Given the description of an element on the screen output the (x, y) to click on. 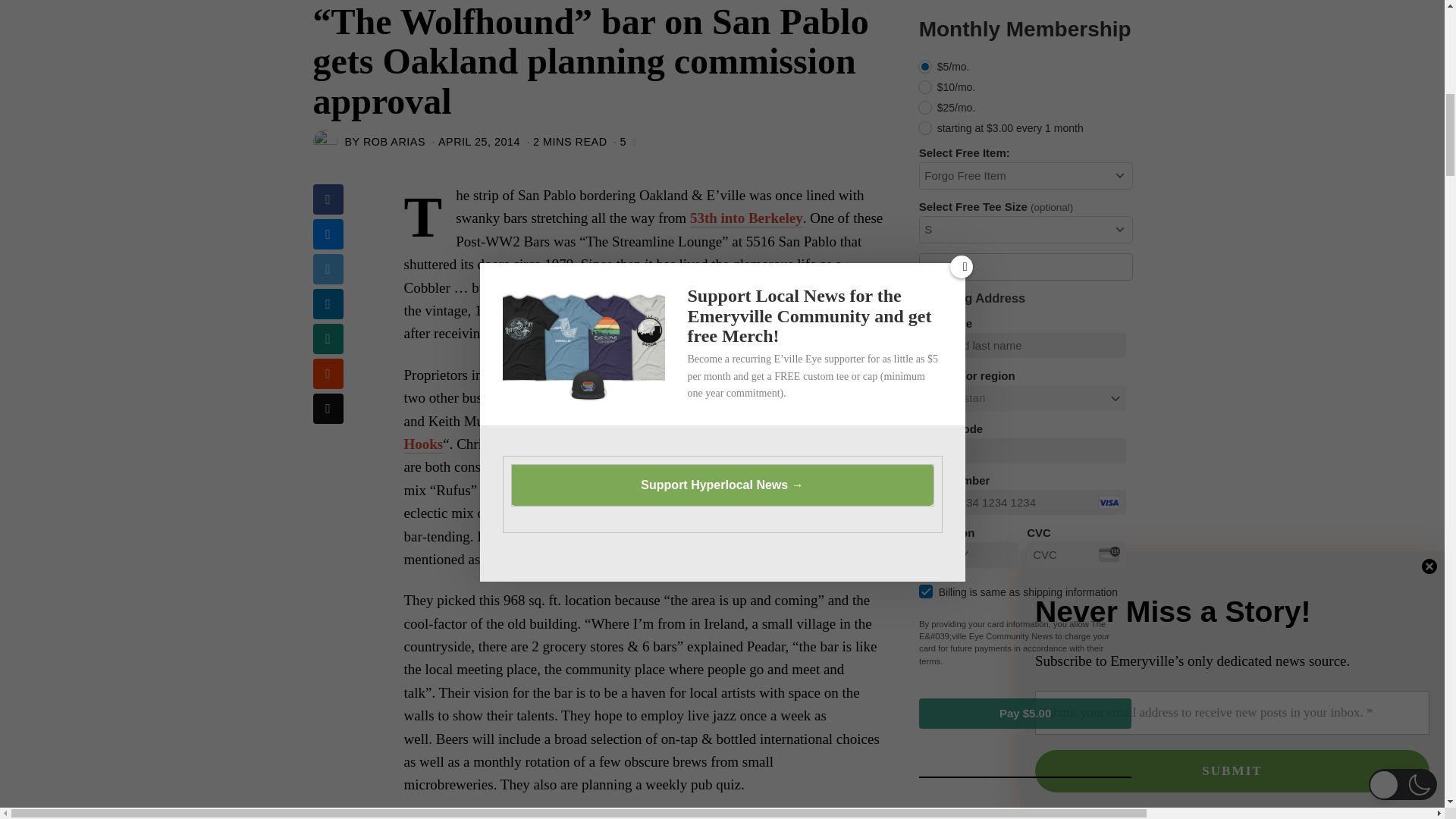
Missouri Lounge (593, 535)
5 (623, 141)
Irish Wolfhound (825, 466)
ROB ARIAS (393, 141)
53th into Berkeley (746, 217)
make-a-recurring-monthly-payment-1534632379 (924, 66)
make-a-recurring-monthly-payment-1515814258 (924, 107)
The Hooks (623, 432)
make-a-recurring-monthly-payment-1502228771 (924, 87)
